Given the description of an element on the screen output the (x, y) to click on. 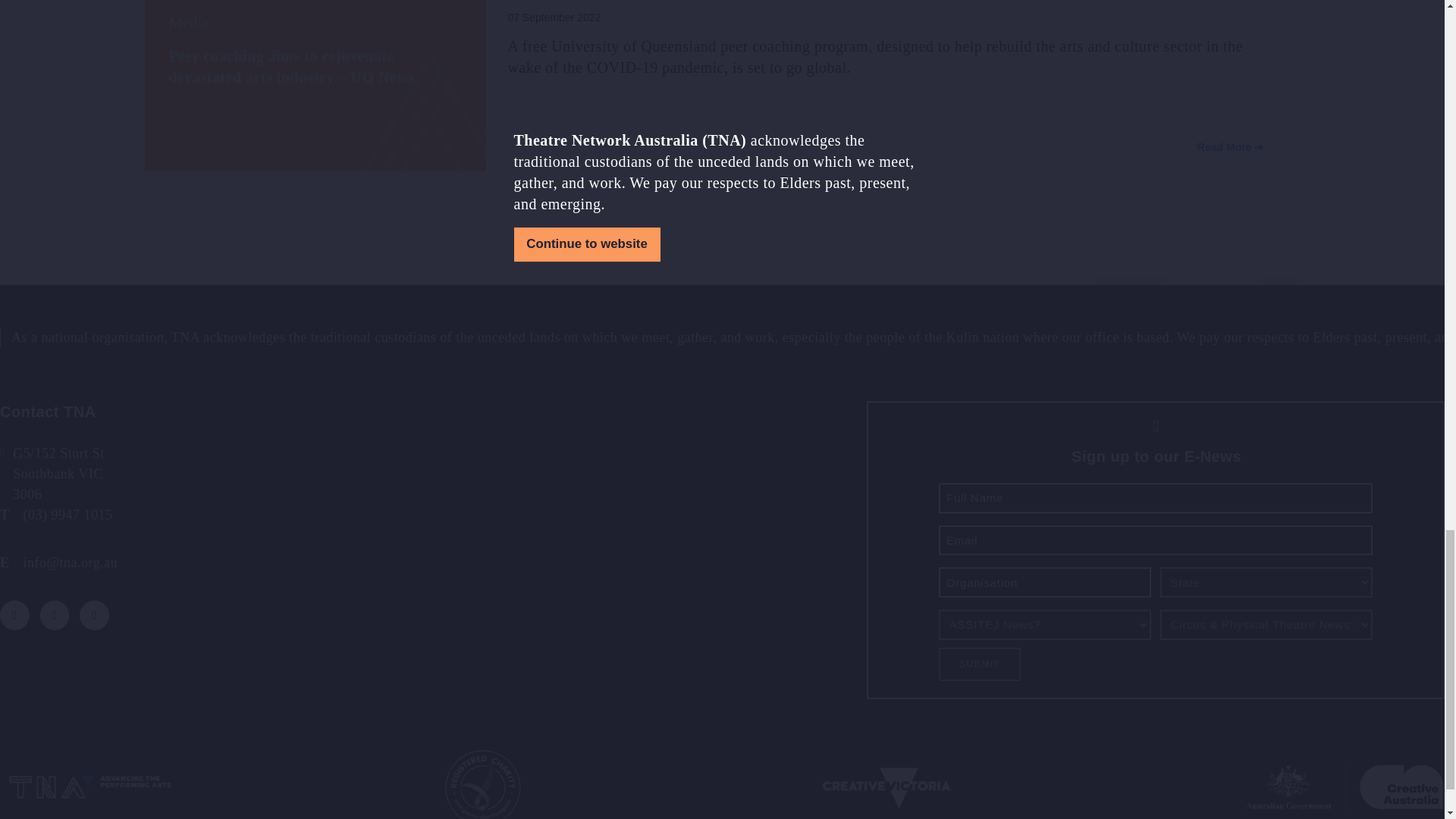
Read More (1230, 147)
Submit (979, 663)
